Given the description of an element on the screen output the (x, y) to click on. 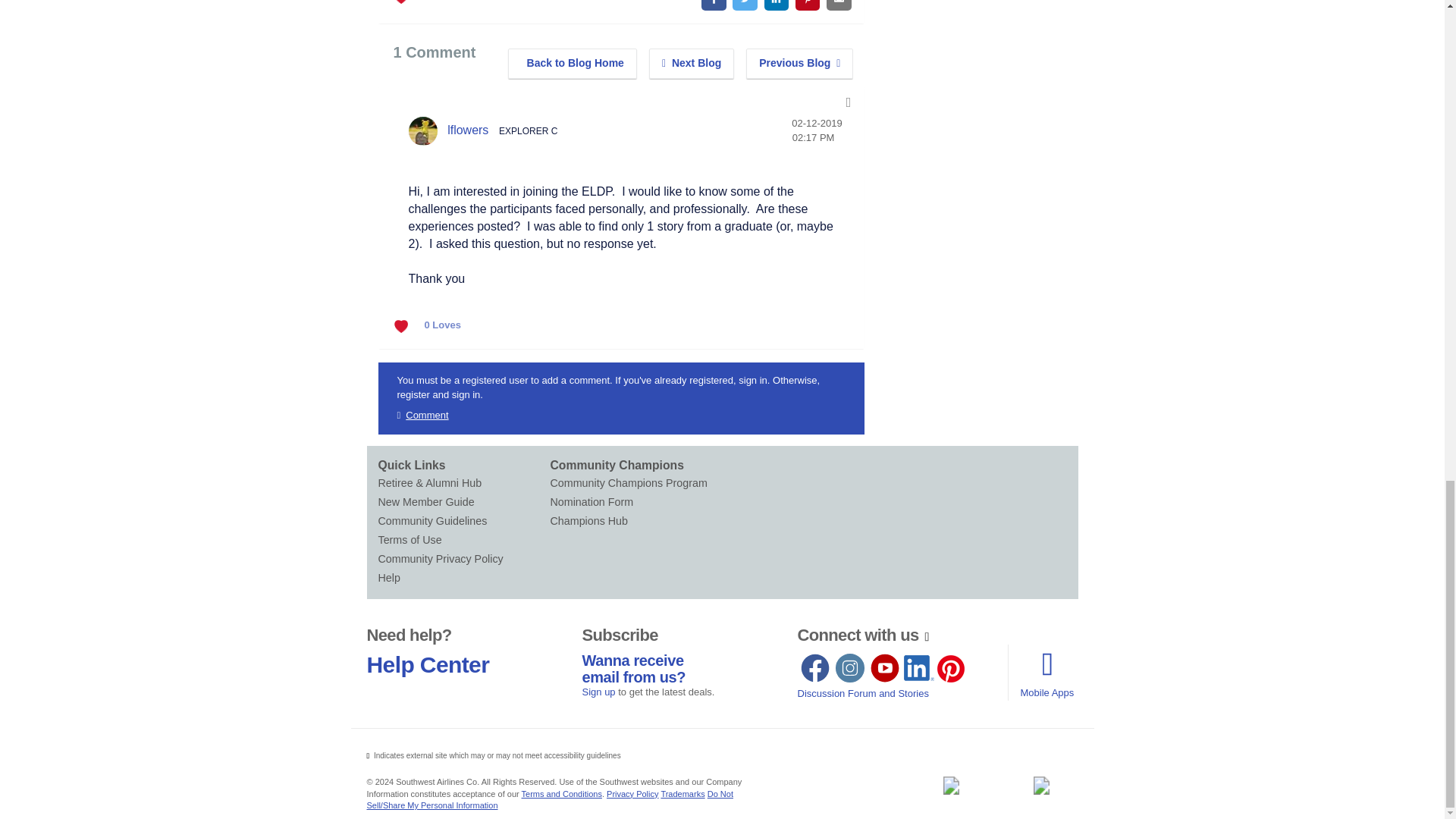
Click here to give loves to this post. (403, 2)
5 Loves (442, 4)
lflowers (421, 131)
Click here to see who gave loves to this post. (442, 4)
Southwest Business logo and link (950, 785)
Blog (572, 63)
Southwest Cargo logo and link (1041, 785)
Flashback Fridays: Closing the Triangle (691, 63)
Posted on (817, 130)
The total number of loves this post has received. (442, 325)
Show option menu (848, 102)
